Given the description of an element on the screen output the (x, y) to click on. 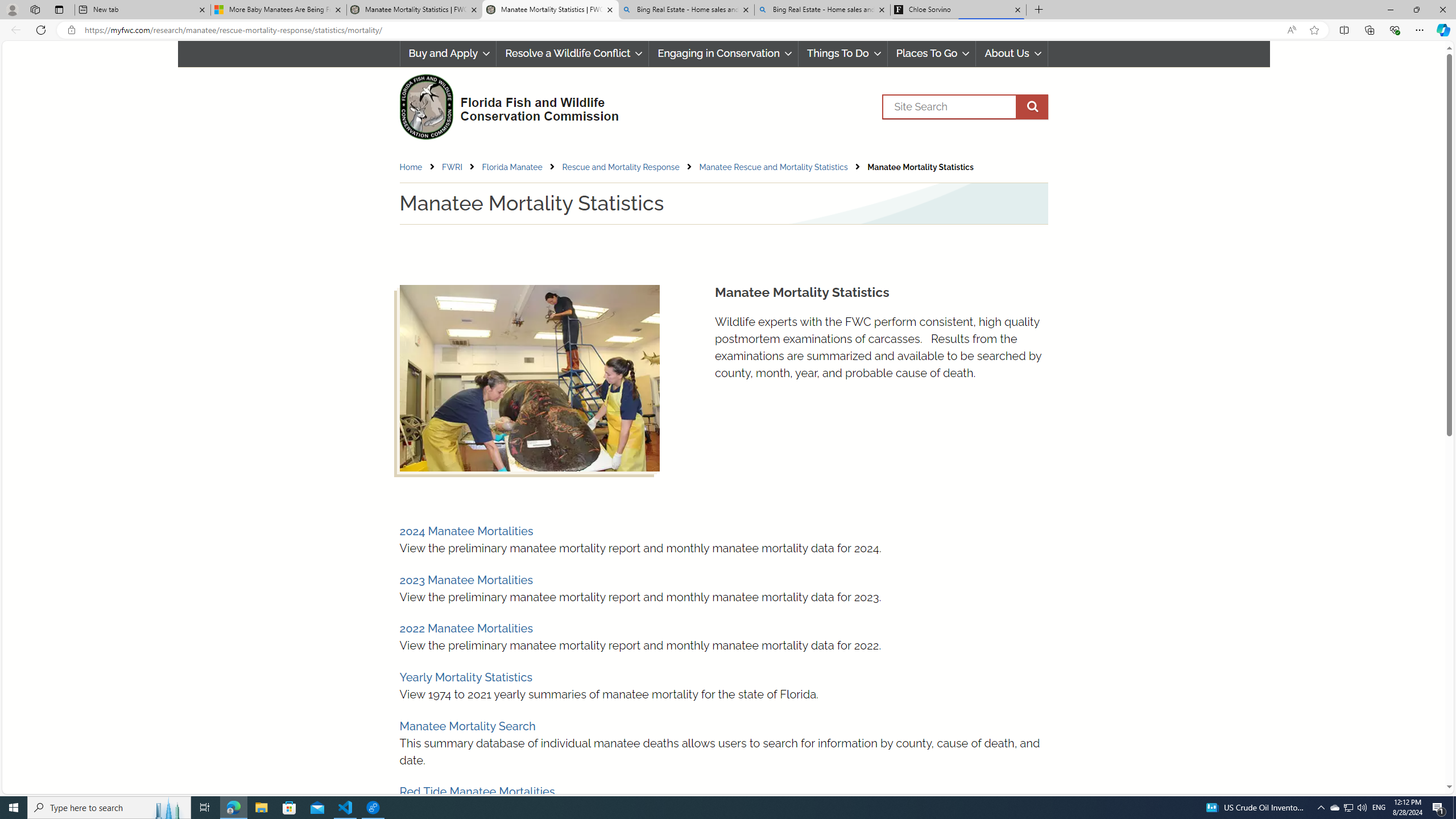
Places To Go (930, 53)
FWRI (452, 166)
Resolve a Wildlife Conflict (572, 53)
Rescue and Mortality Response (629, 166)
Home (418, 166)
Bing Real Estate - Home sales and rental listings (822, 9)
Florida Manatee (520, 166)
Manatee Mortality Statistics (920, 167)
